Given the description of an element on the screen output the (x, y) to click on. 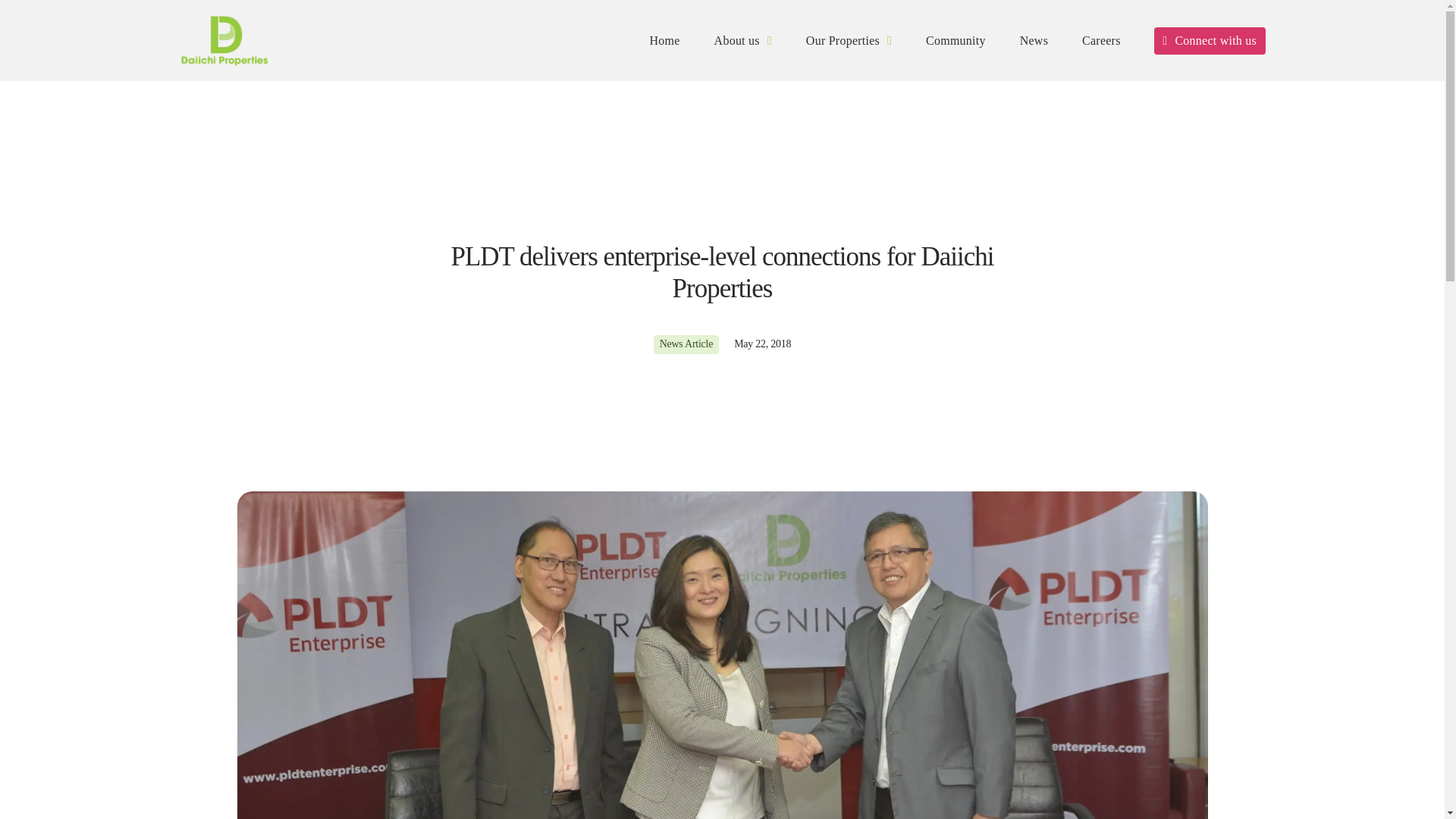
Connect with us (1209, 40)
Home (664, 40)
Careers (1101, 40)
Community (955, 40)
About us (742, 40)
Our Properties (848, 40)
News (1033, 40)
